Given the description of an element on the screen output the (x, y) to click on. 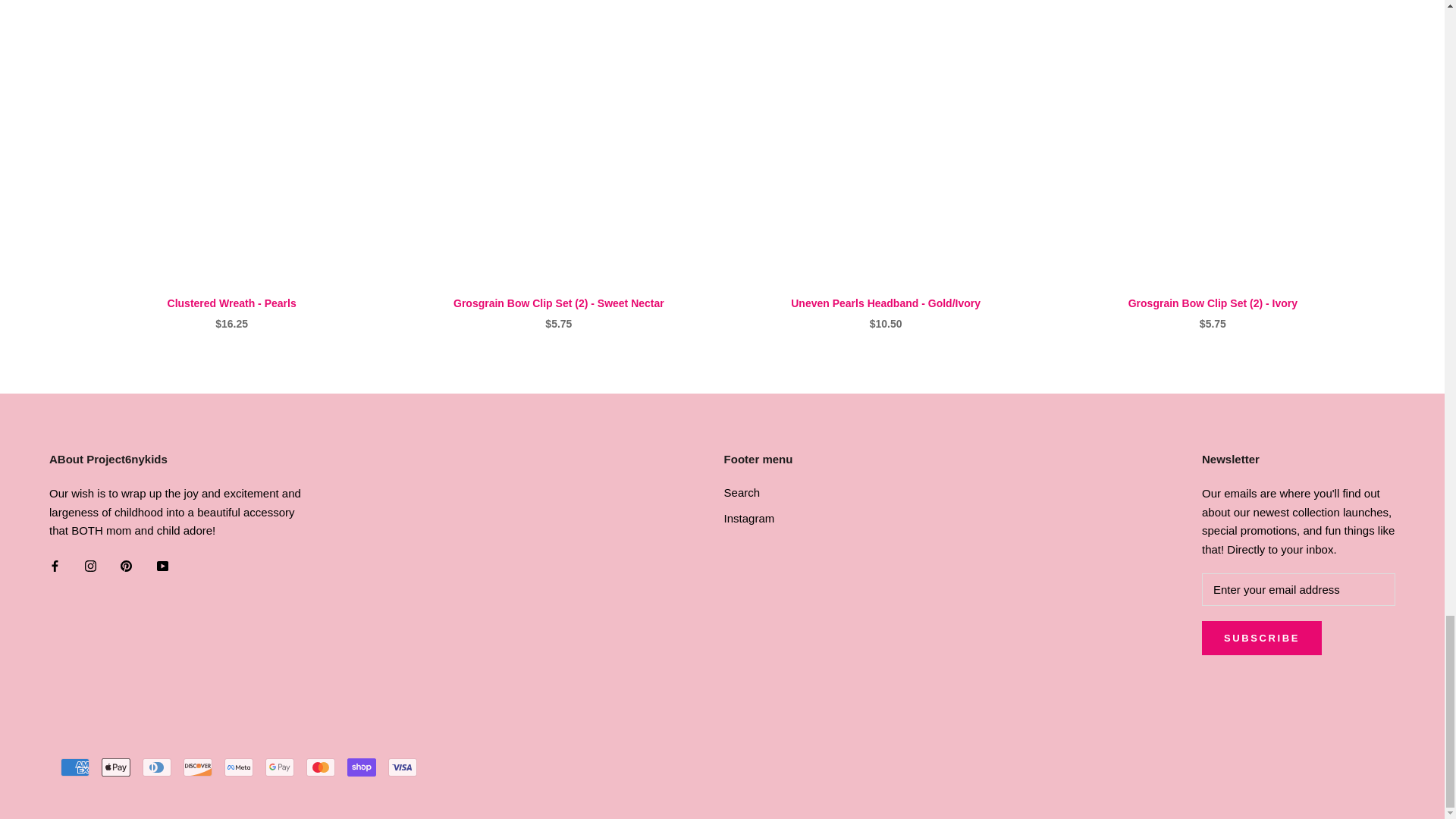
American Express (74, 767)
Meta Pay (238, 767)
Discover (197, 767)
Diners Club (156, 767)
Apple Pay (116, 767)
